Given the description of an element on the screen output the (x, y) to click on. 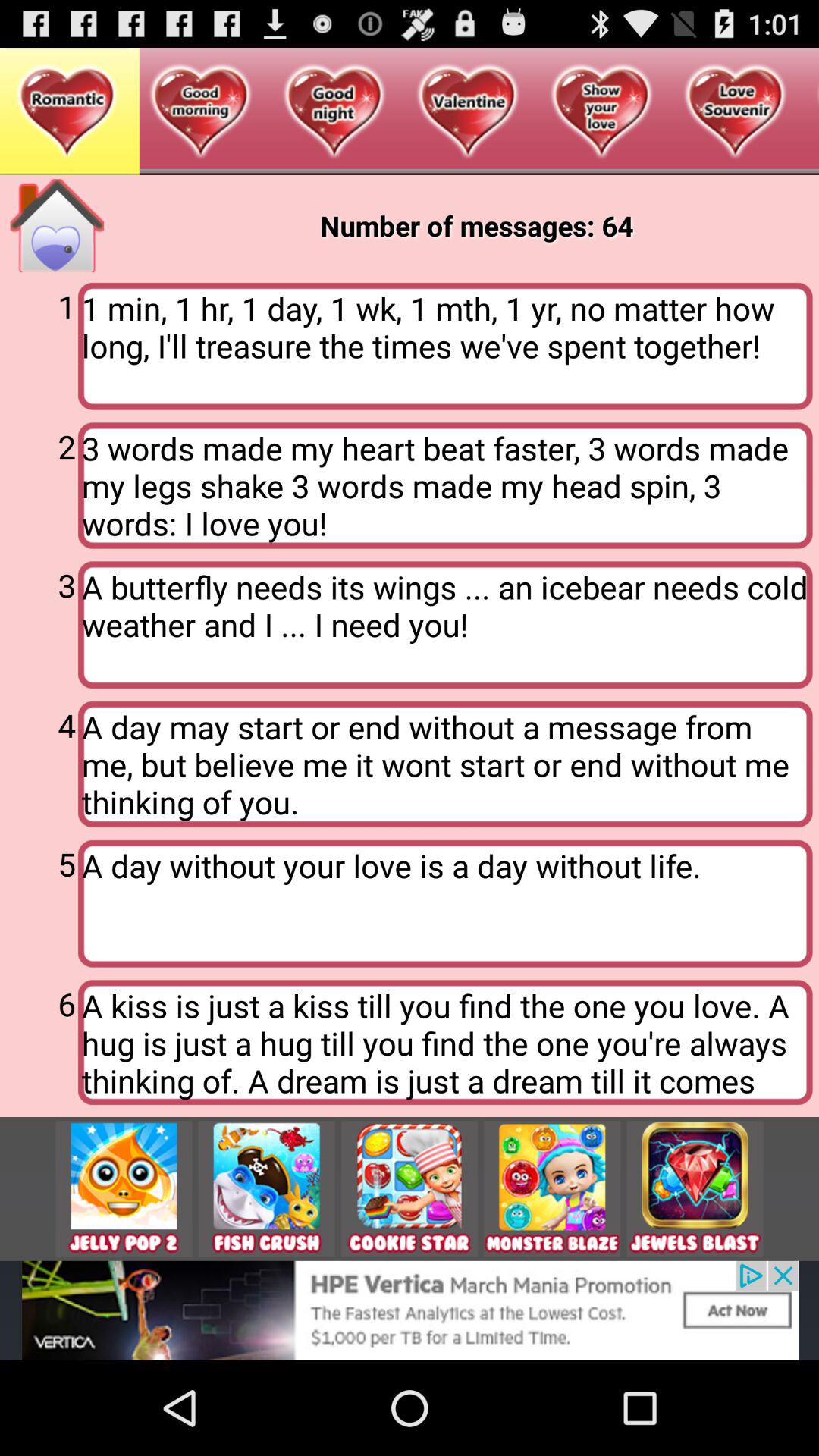
share the article (123, 1188)
